Given the description of an element on the screen output the (x, y) to click on. 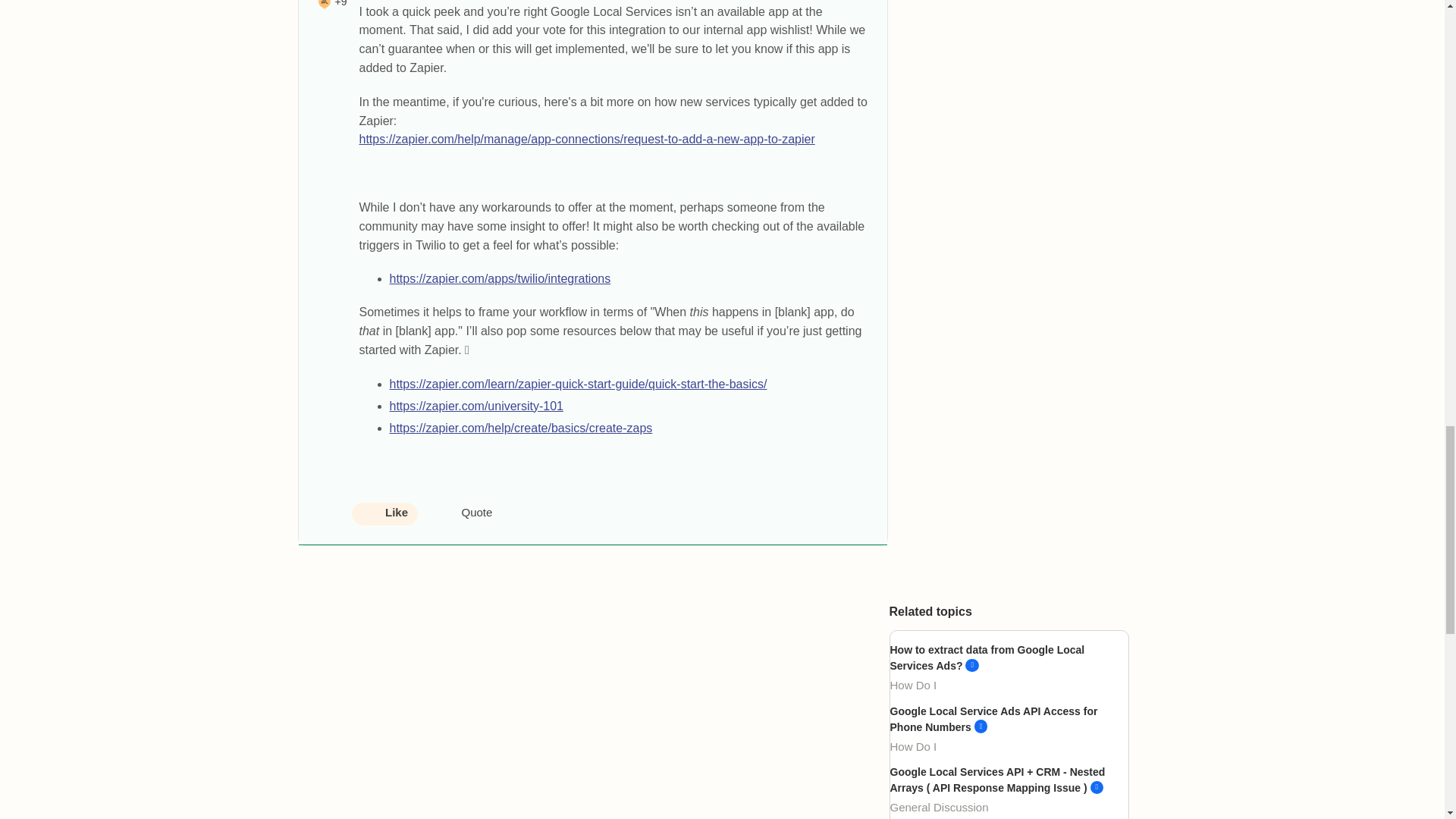
First Best Answer (324, 4)
